Given the description of an element on the screen output the (x, y) to click on. 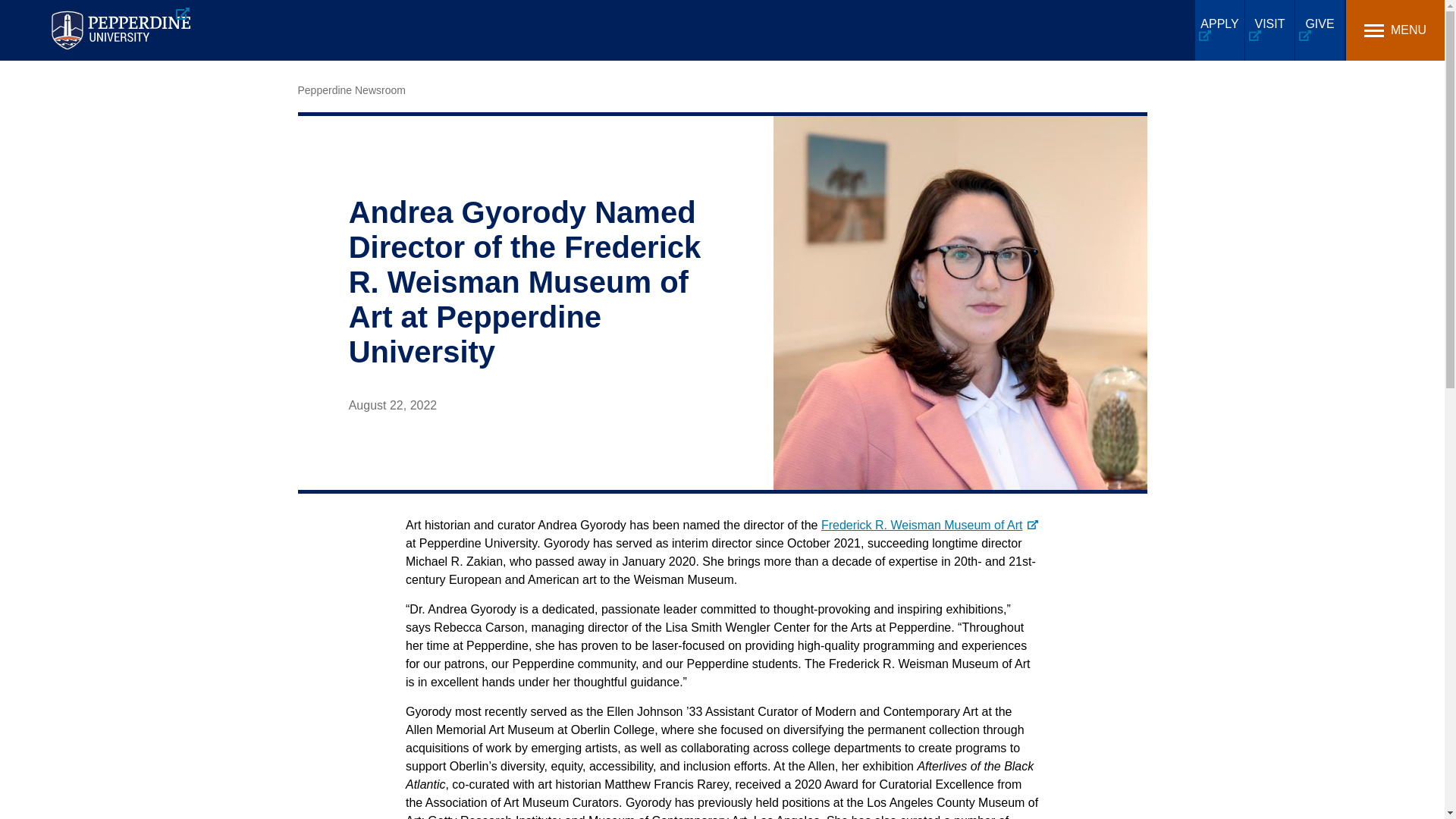
open search (1182, 29)
Pepperdine University (120, 30)
Submit (476, 19)
